Given the description of an element on the screen output the (x, y) to click on. 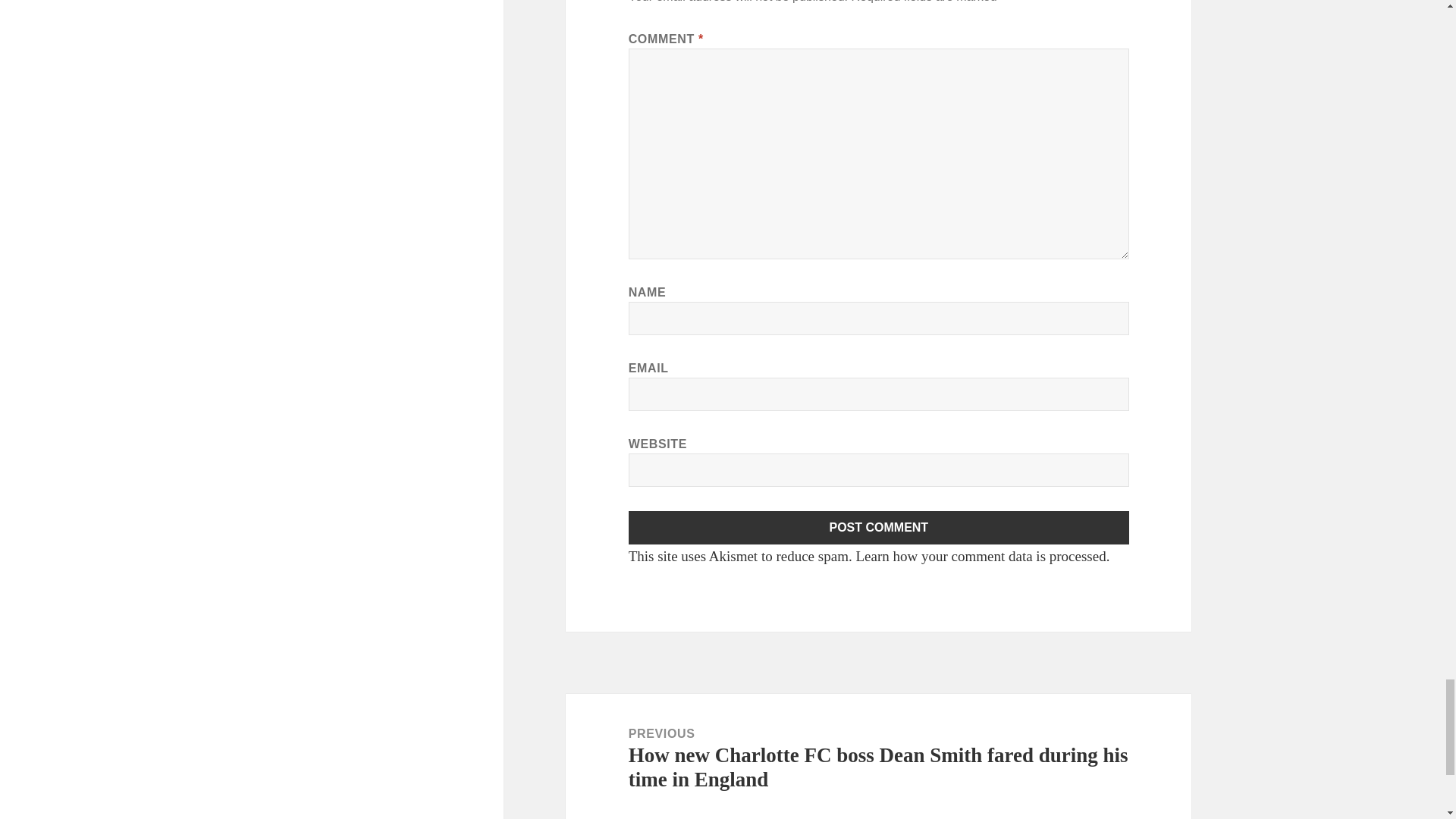
Learn how your comment data is processed (980, 555)
Post Comment (878, 527)
Post Comment (878, 527)
